Given the description of an element on the screen output the (x, y) to click on. 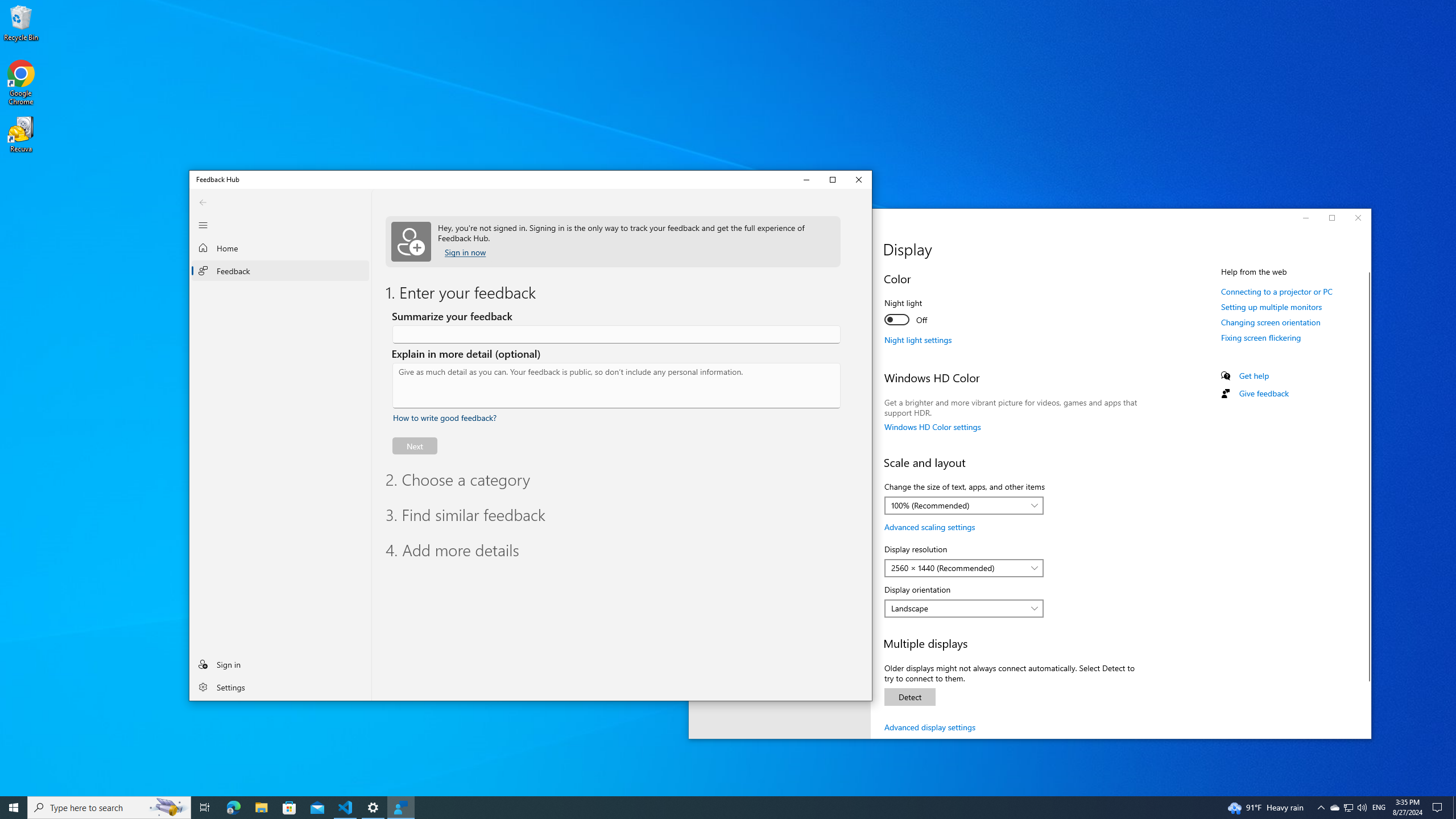
Sign in (280, 664)
Settings - 1 running window (373, 807)
Vertical Large Increase (867, 458)
Q2790: 100% (1361, 807)
Microsoft Edge (233, 807)
Visual Studio Code - 1 running window (345, 807)
Explain in more detail (optional) (616, 385)
Close Navigation (203, 224)
Start (13, 807)
Notification Chevron (1320, 807)
Action Center, No new notifications (1439, 807)
Show desktop (1454, 807)
Next (414, 445)
